Given the description of an element on the screen output the (x, y) to click on. 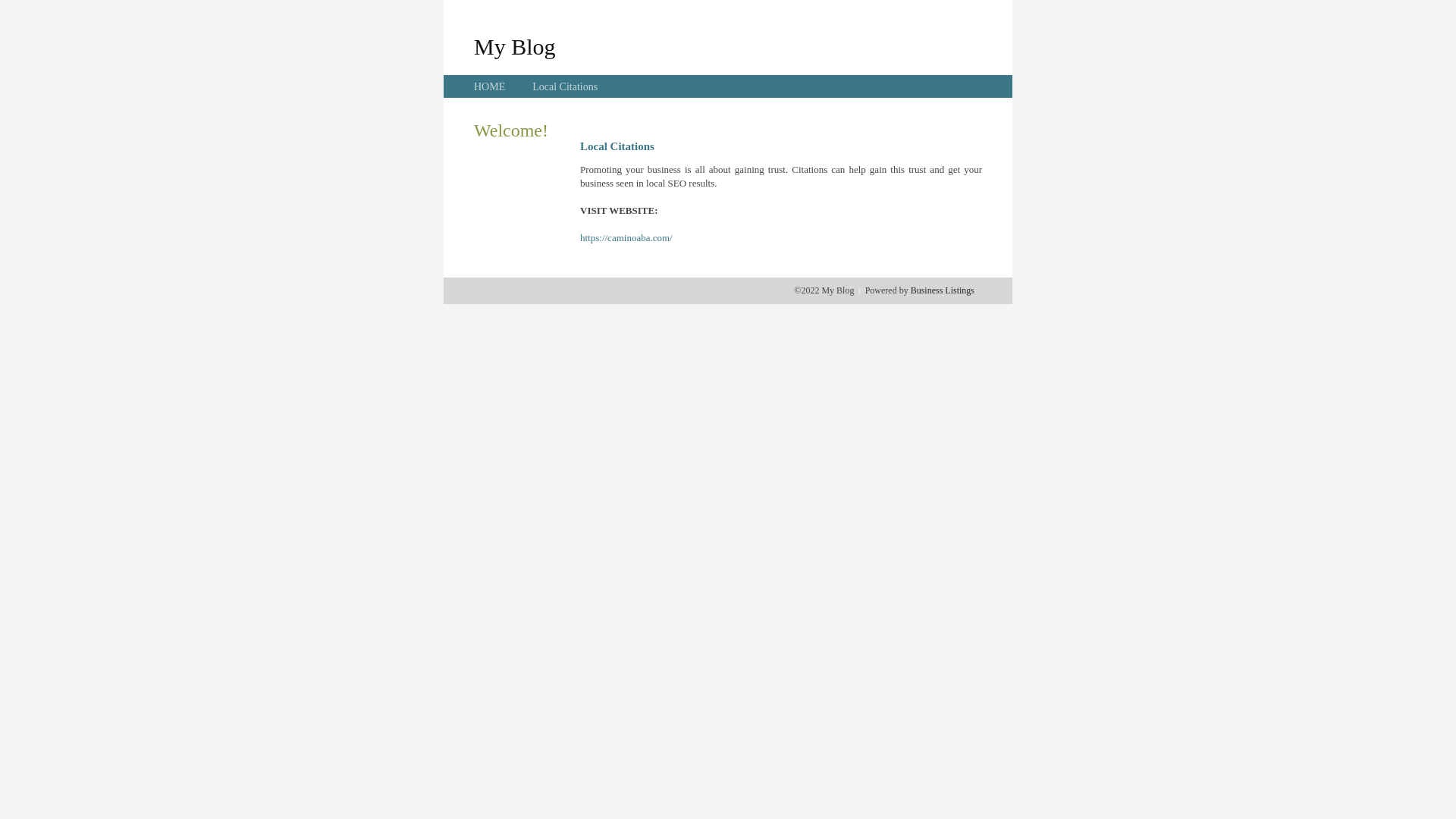
HOME Element type: text (489, 86)
Local Citations Element type: text (564, 86)
https://caminoaba.com/ Element type: text (626, 237)
Business Listings Element type: text (942, 290)
My Blog Element type: text (514, 46)
